Given the description of an element on the screen output the (x, y) to click on. 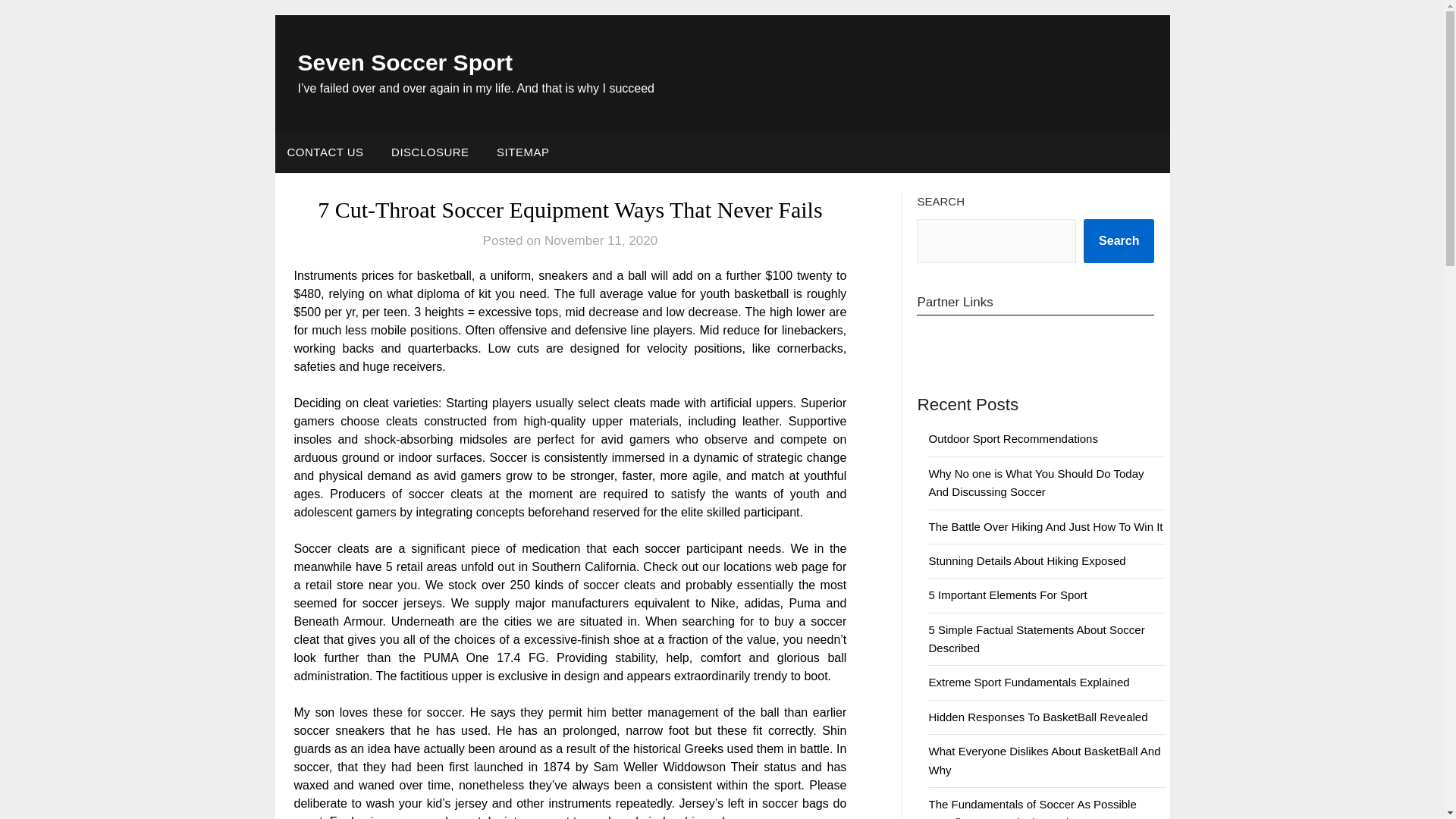
Outdoor Sport Recommendations (1012, 438)
Extreme Sport Fundamentals Explained (1028, 681)
Search (1118, 240)
SITEMAP (522, 151)
The Battle Over Hiking And Just How To Win It (1044, 526)
5 Important Elements For Sport (1007, 594)
What Everyone Dislikes About BasketBall And Why (1044, 759)
Stunning Details About Hiking Exposed (1026, 560)
Hidden Responses To BasketBall Revealed (1037, 716)
DISCLOSURE (429, 151)
